Given the description of an element on the screen output the (x, y) to click on. 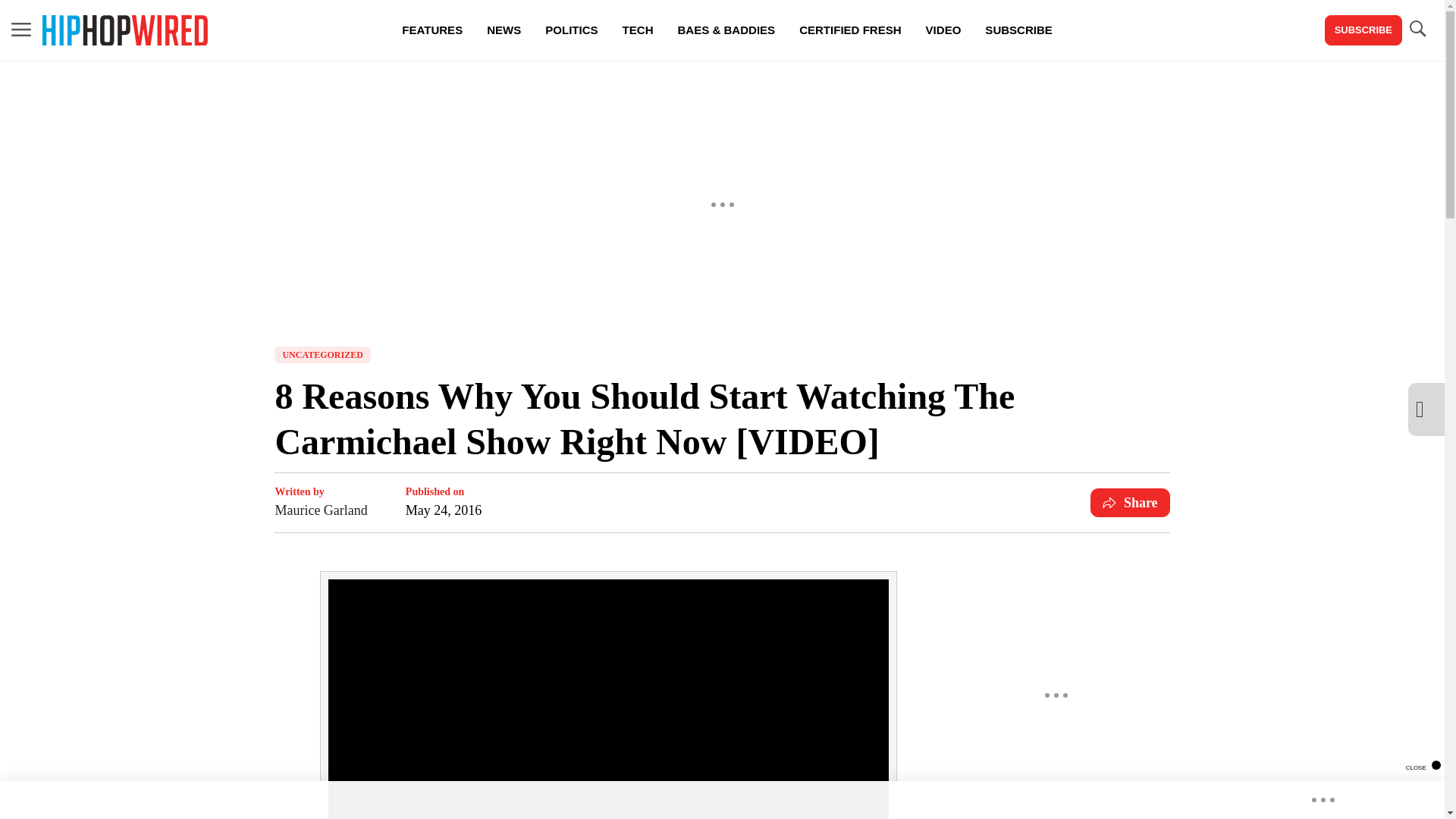
UNCATEGORIZED (322, 354)
SUBSCRIBE (1363, 30)
TOGGLE SEARCH (1417, 28)
Share (1130, 502)
POLITICS (571, 30)
FEATURES (432, 30)
SUBSCRIBE (1018, 30)
NEWS (503, 30)
Maurice Garland (320, 509)
CERTIFIED FRESH (849, 30)
VIDEO (944, 30)
TECH (637, 30)
TOGGLE SEARCH (1417, 30)
MENU (20, 29)
MENU (20, 30)
